Given the description of an element on the screen output the (x, y) to click on. 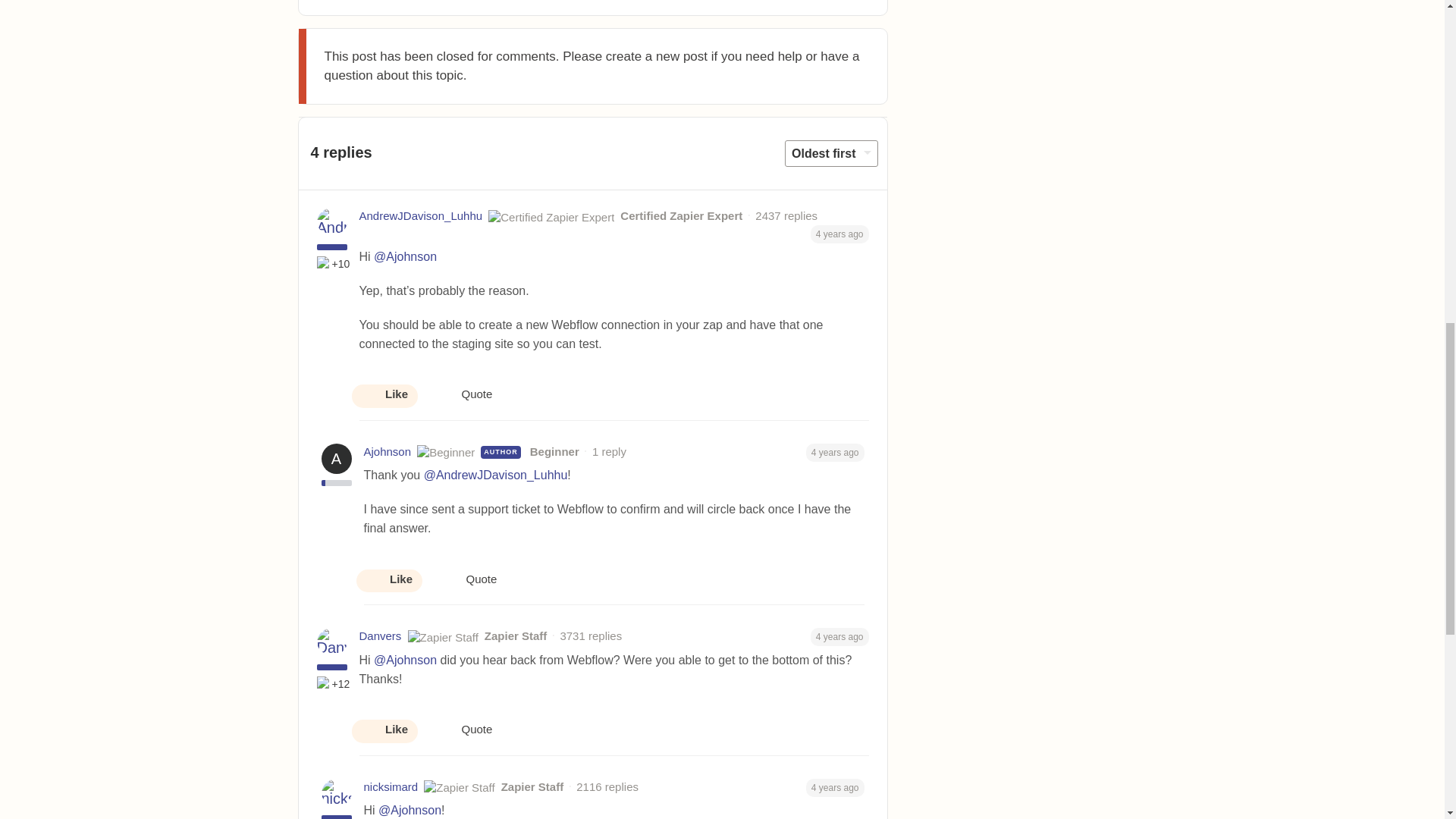
First Best Answer (324, 683)
nicksimard (391, 787)
Danvers (380, 636)
Helpful (324, 263)
Ajohnson (388, 452)
